Given the description of an element on the screen output the (x, y) to click on. 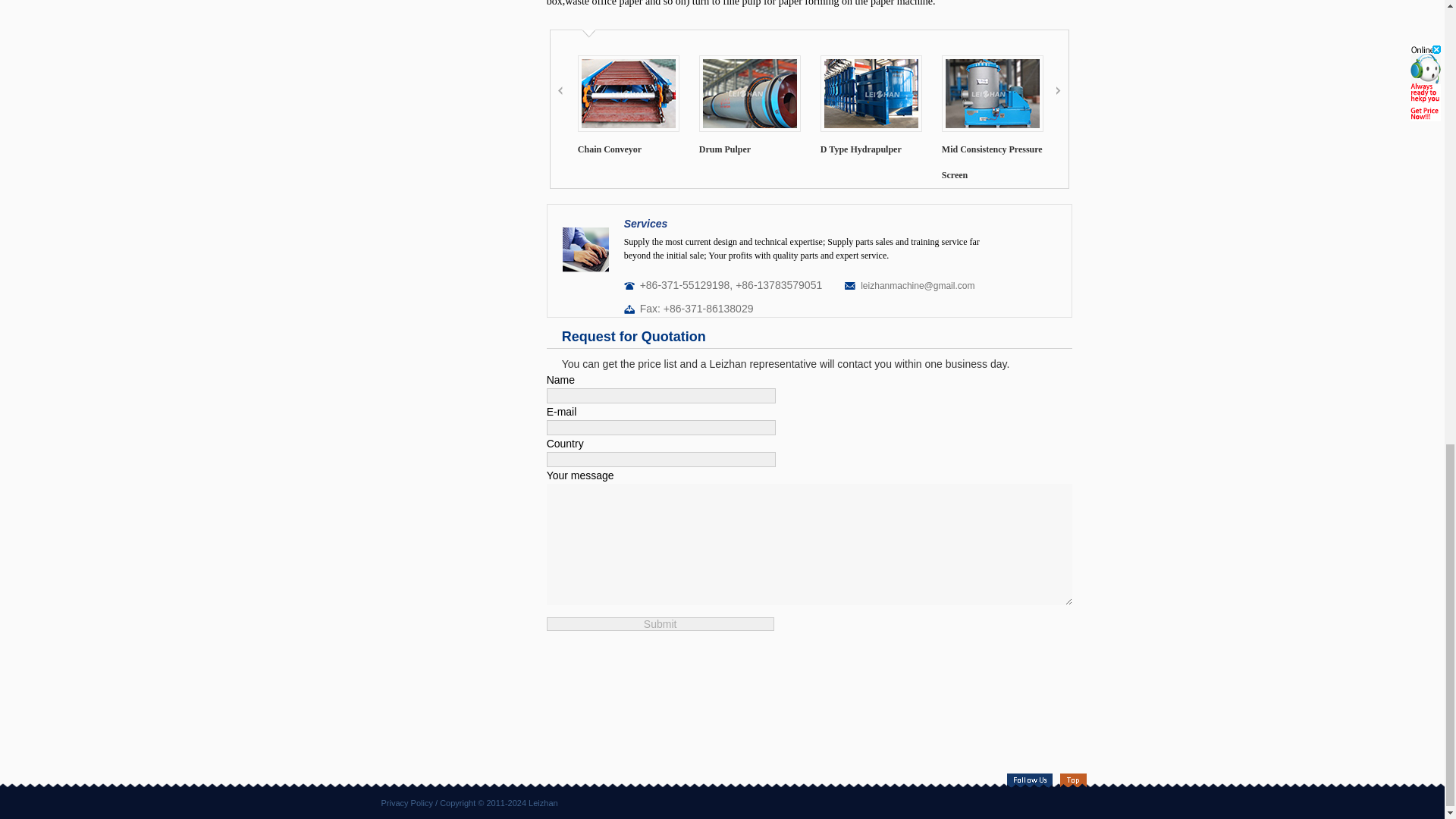
Submit (660, 623)
